Given the description of an element on the screen output the (x, y) to click on. 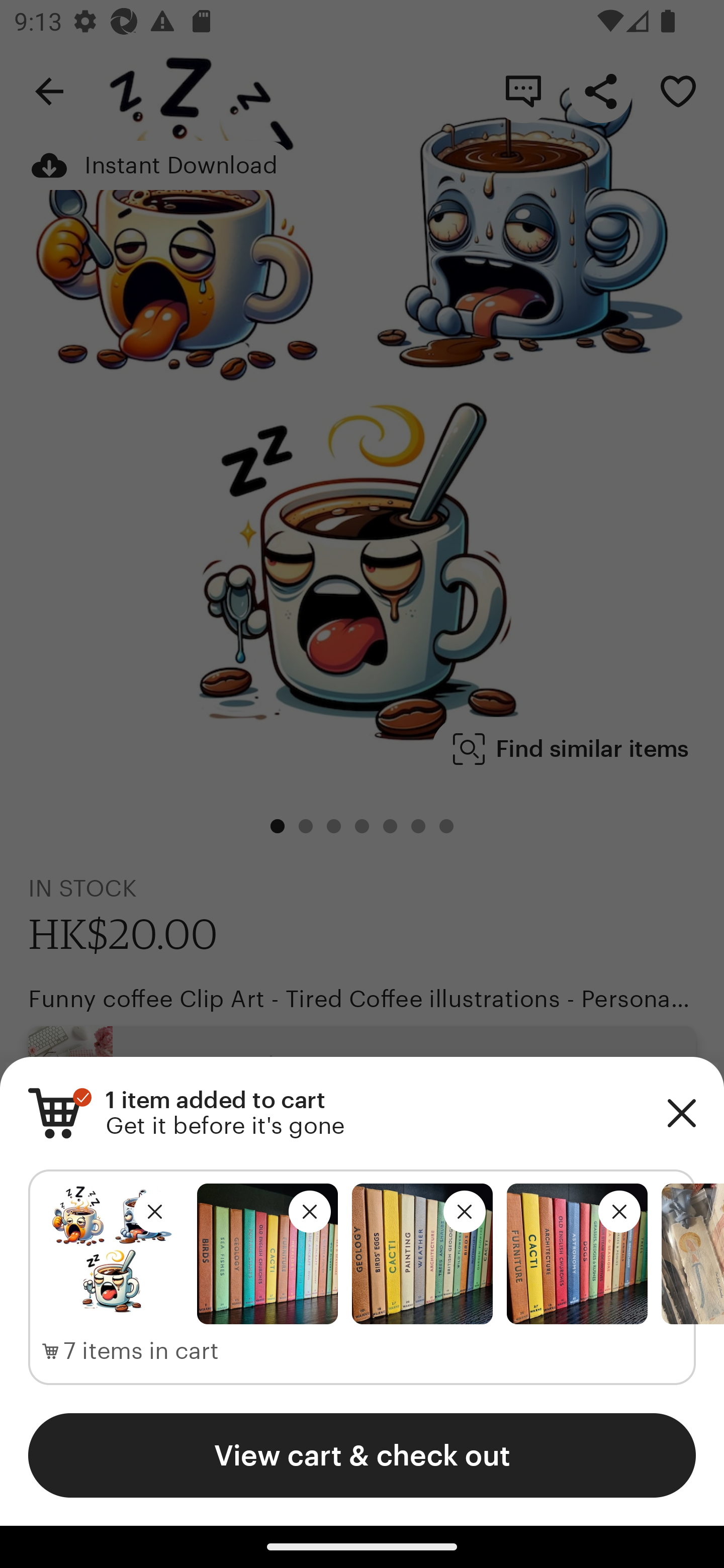
7 items in cart (130, 1351)
View cart & check out (361, 1454)
